Given the description of an element on the screen output the (x, y) to click on. 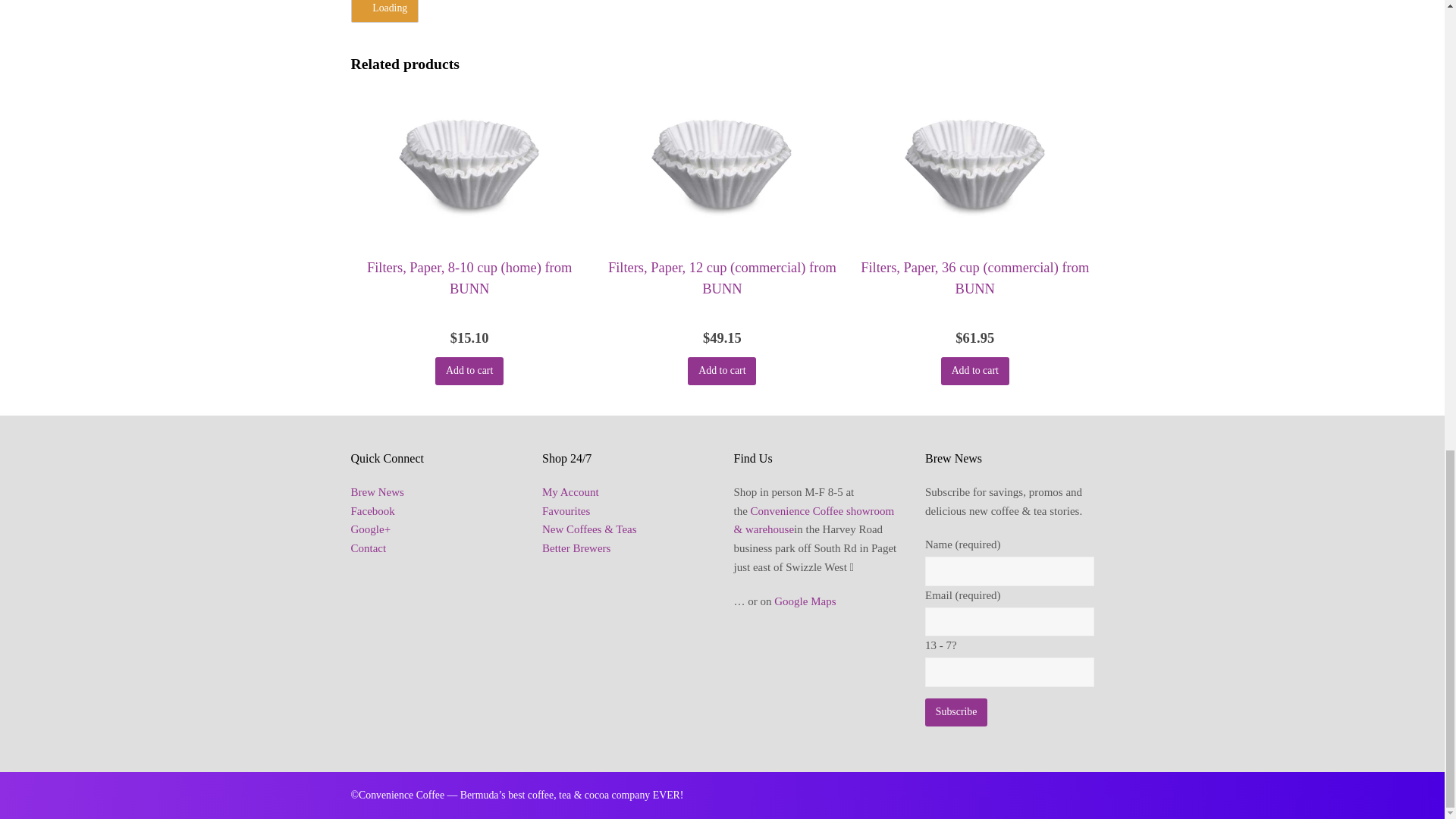
Subscribe (955, 712)
Add to cart (974, 370)
Add to cart (469, 370)
Add to cart (721, 370)
Contact (367, 548)
Brew News (376, 491)
Loading (384, 11)
Facebook (372, 510)
